Given the description of an element on the screen output the (x, y) to click on. 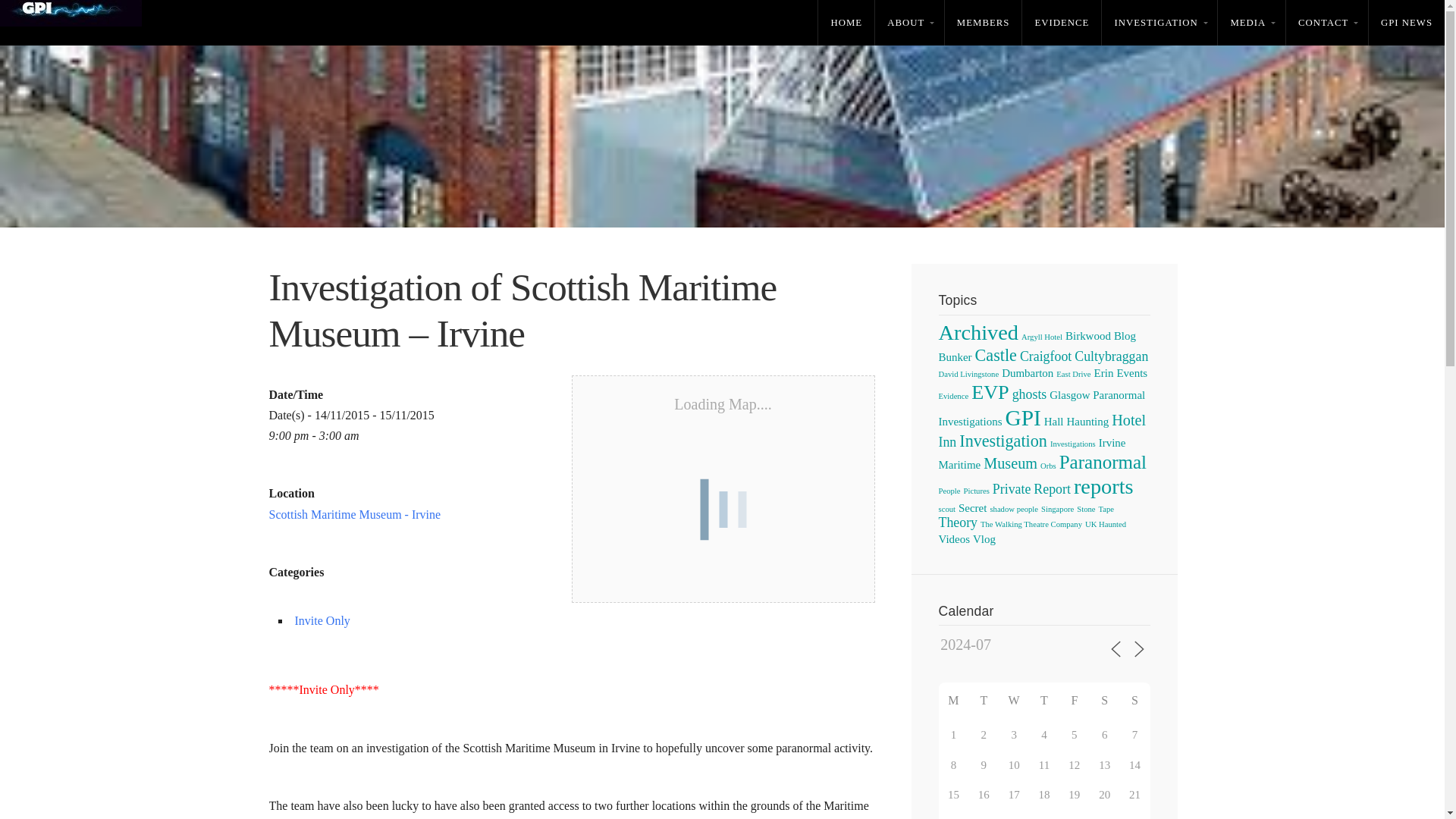
Cultybraggan (1111, 355)
CONTACT (1326, 22)
David Livingstone (968, 374)
HOME (846, 22)
2024-07 (987, 644)
Craigfoot (1045, 355)
Scottish Maritime Museum - Irvine (354, 513)
Blog (1124, 336)
EVIDENCE (1061, 22)
ABOUT (909, 22)
Archived (979, 332)
Bunker (955, 357)
MEDIA (1251, 22)
Invite Only (321, 620)
Argyll Hotel (1042, 336)
